Given the description of an element on the screen output the (x, y) to click on. 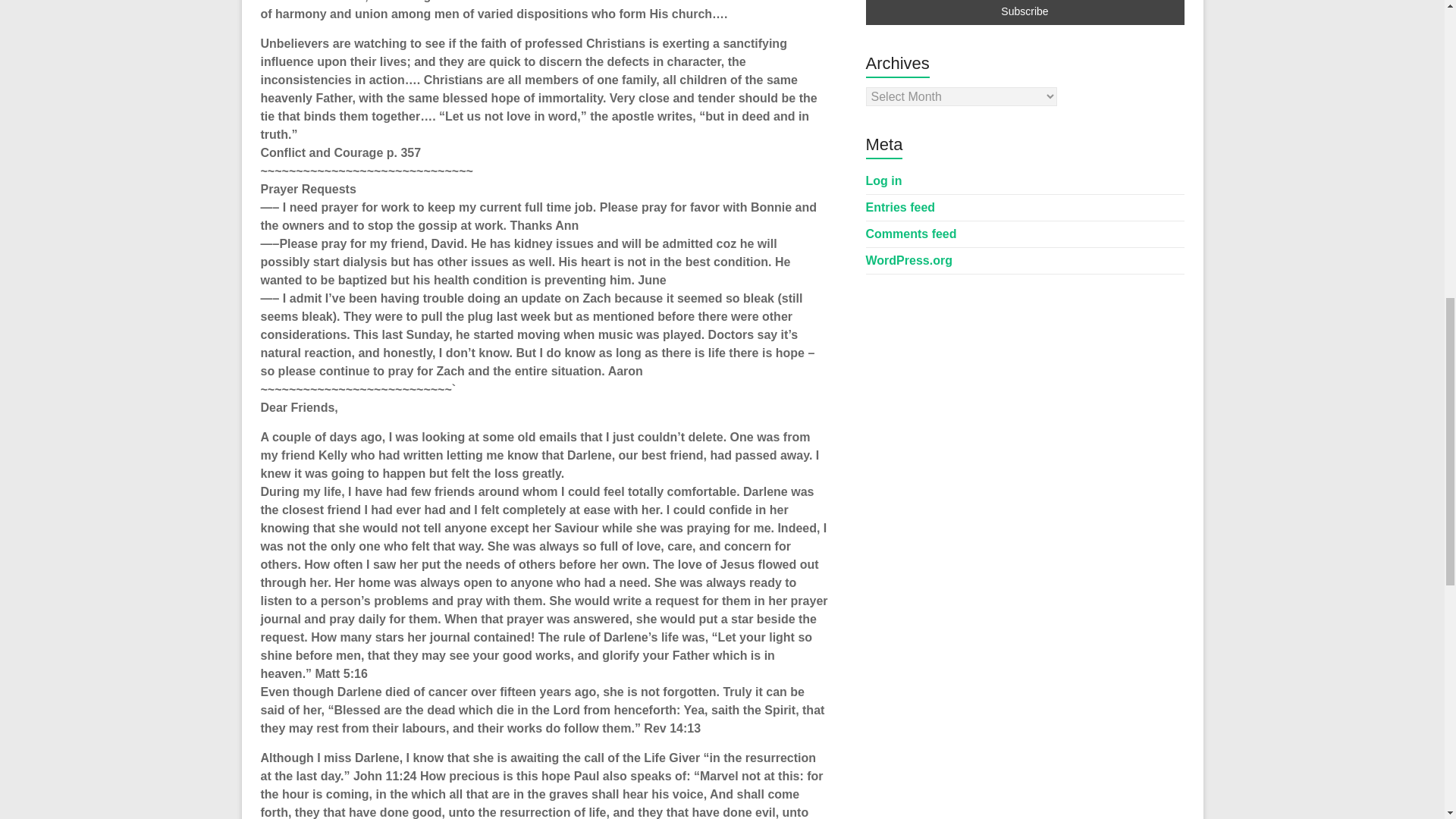
Comments feed (911, 233)
Subscribe (1025, 12)
Subscribe (1025, 12)
WordPress.org (909, 259)
Entries feed (901, 206)
Log in (884, 180)
